Given the description of an element on the screen output the (x, y) to click on. 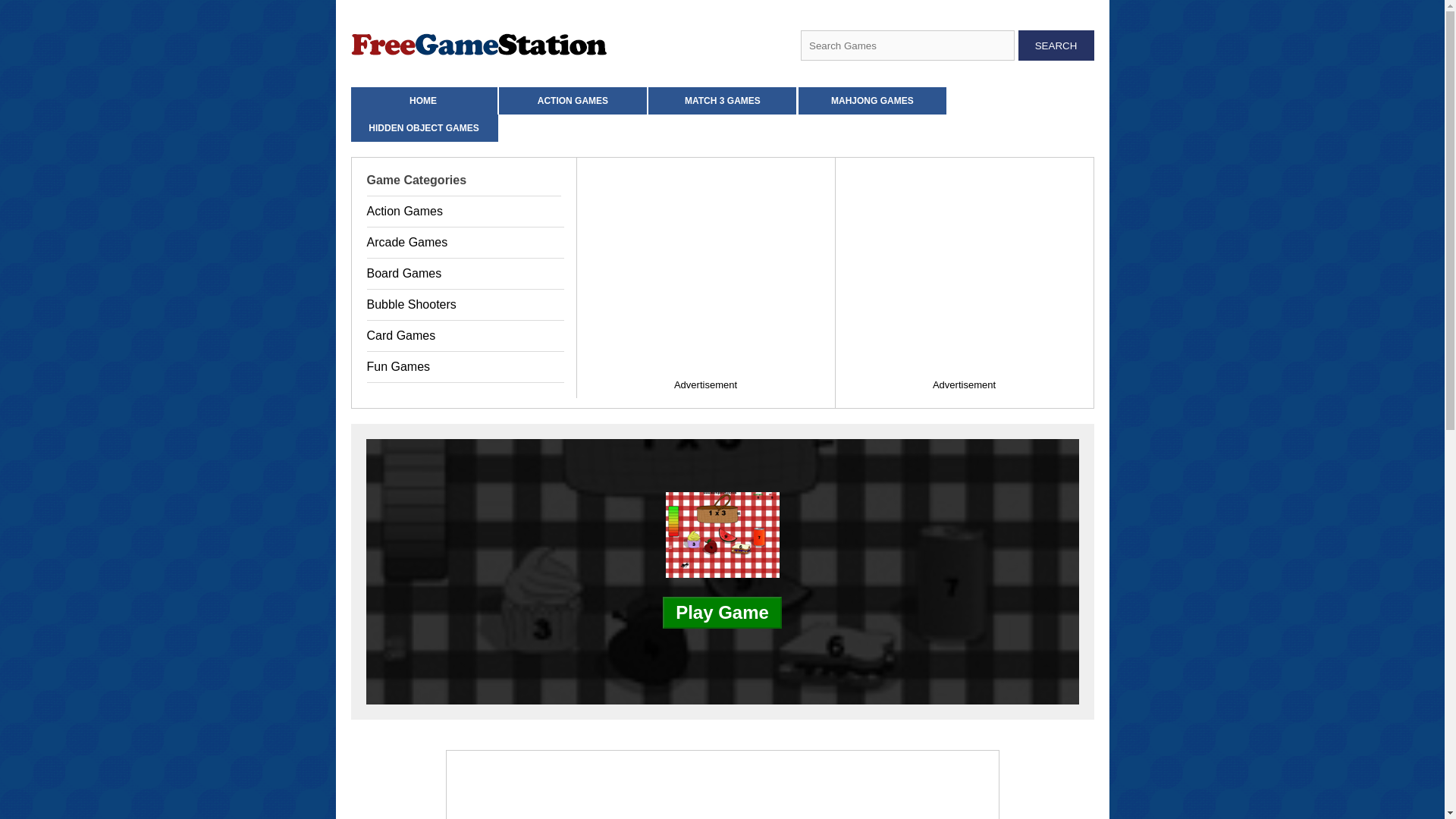
Play Game (721, 612)
HIDDEN OBJECT GAMES (423, 127)
3rd party ad content (721, 785)
ACTION GAMES (572, 100)
Board Games (465, 273)
HOME (422, 100)
Fun Games (465, 367)
Action Games (465, 211)
SEARCH (1055, 45)
Arcade Games (465, 242)
